Given the description of an element on the screen output the (x, y) to click on. 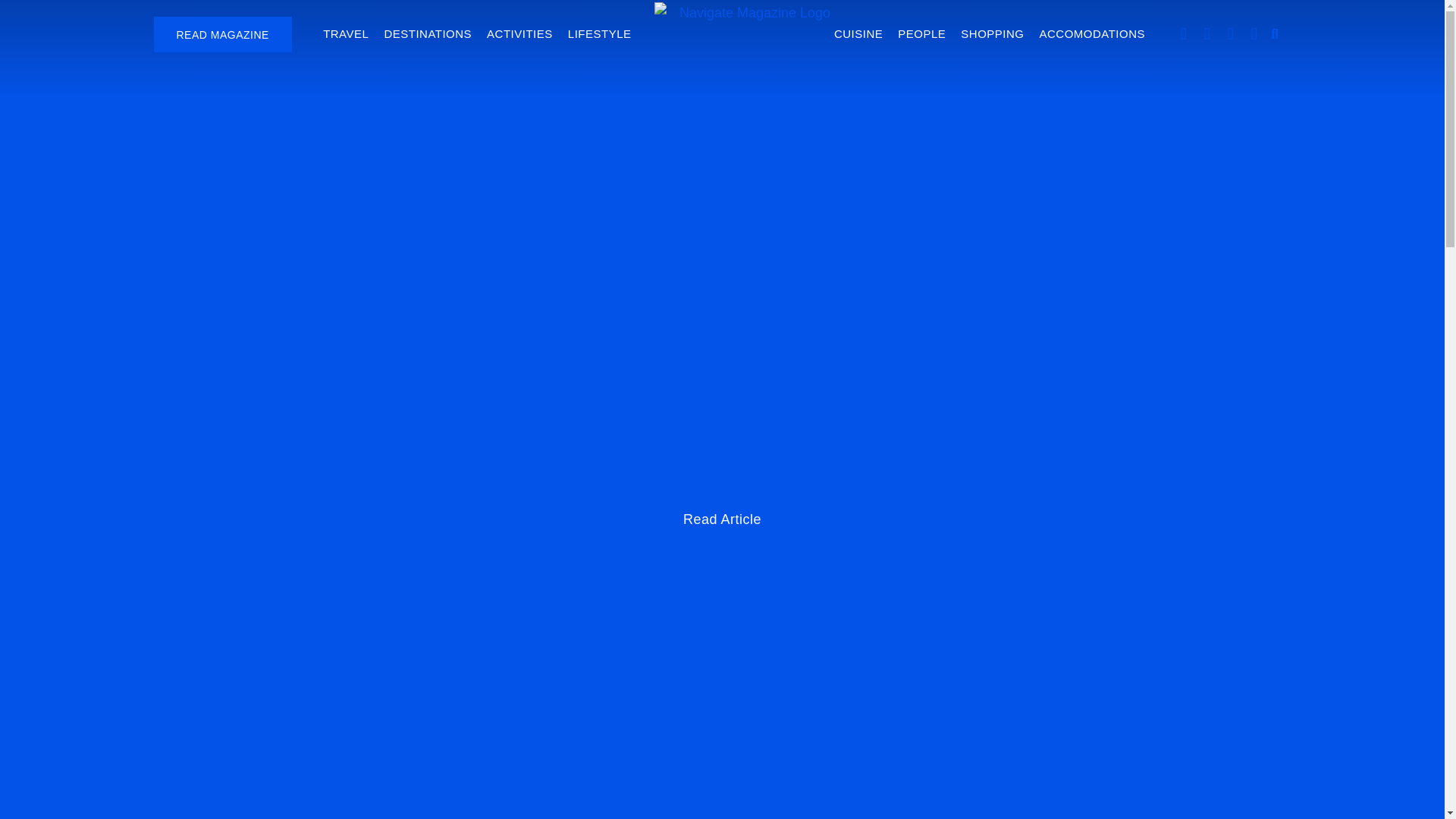
ACCOMODATIONS (1091, 33)
TRAVEL (345, 33)
CUISINE (858, 33)
DESTINATIONS (427, 33)
LIFESTYLE (599, 33)
SHOPPING (991, 33)
PEOPLE (921, 33)
READ MAGAZINE (221, 34)
ACTIVITIES (519, 33)
